Given the description of an element on the screen output the (x, y) to click on. 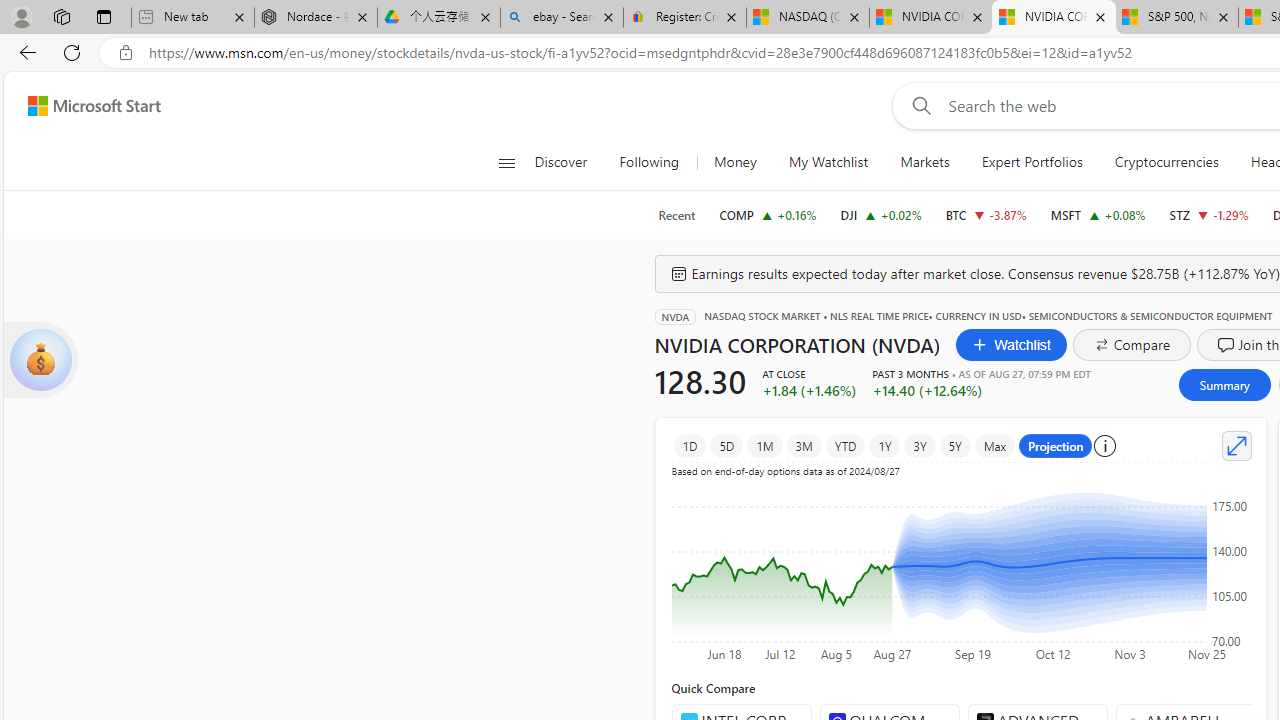
3M (803, 445)
Recent (676, 215)
Skip to footer (82, 105)
Web search (917, 105)
BTC Bitcoin decrease 60,043.79 -2,323.69 -3.87% (986, 214)
Markets (925, 162)
STZ CONSTELLATION BRANDS, INC. decrease 239.98 -3.13 -1.29% (1208, 214)
My Watchlist (827, 162)
Open navigation menu (506, 162)
YTD (845, 445)
